Given the description of an element on the screen output the (x, y) to click on. 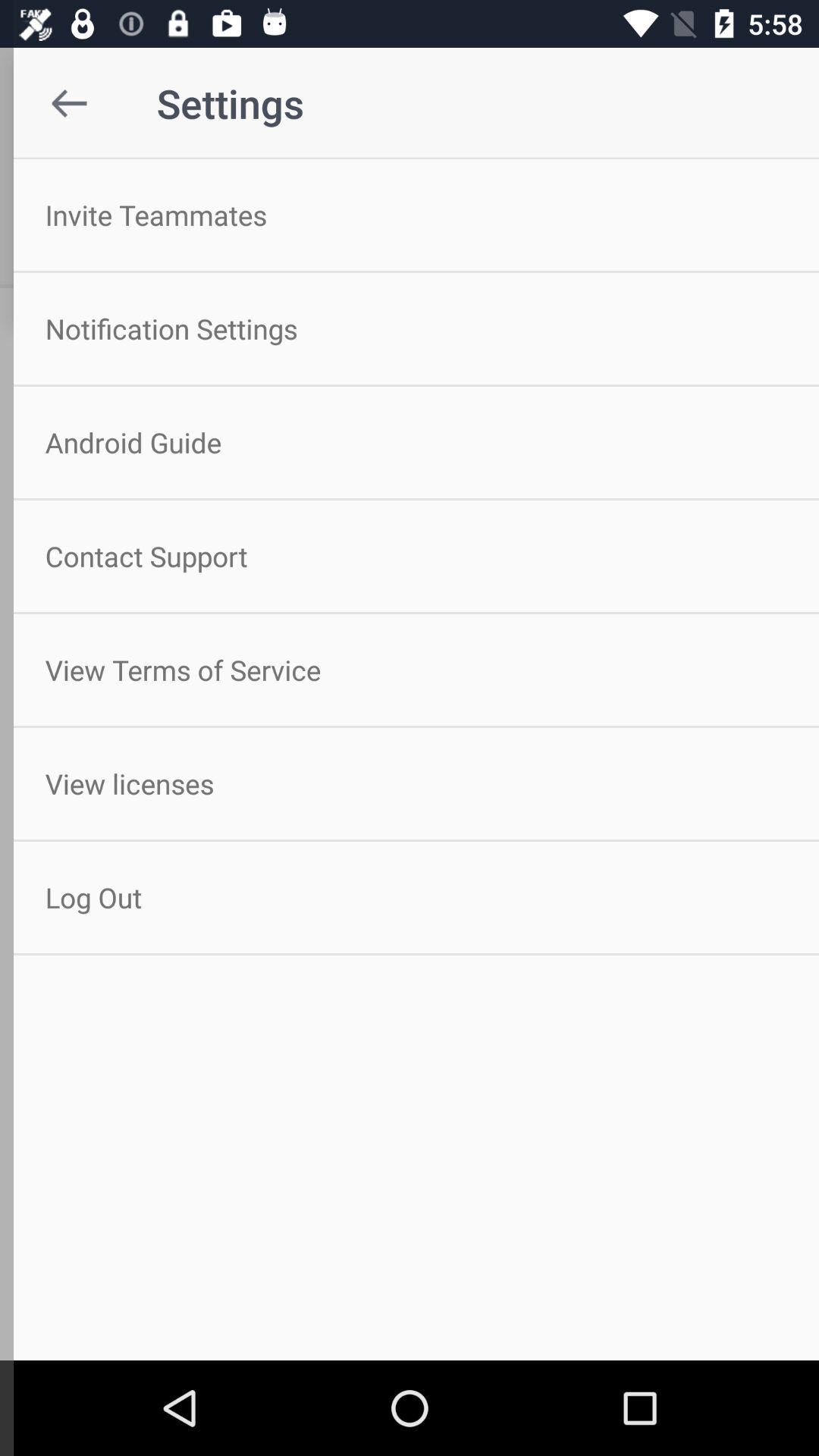
flip to contact support item (409, 555)
